Given the description of an element on the screen output the (x, y) to click on. 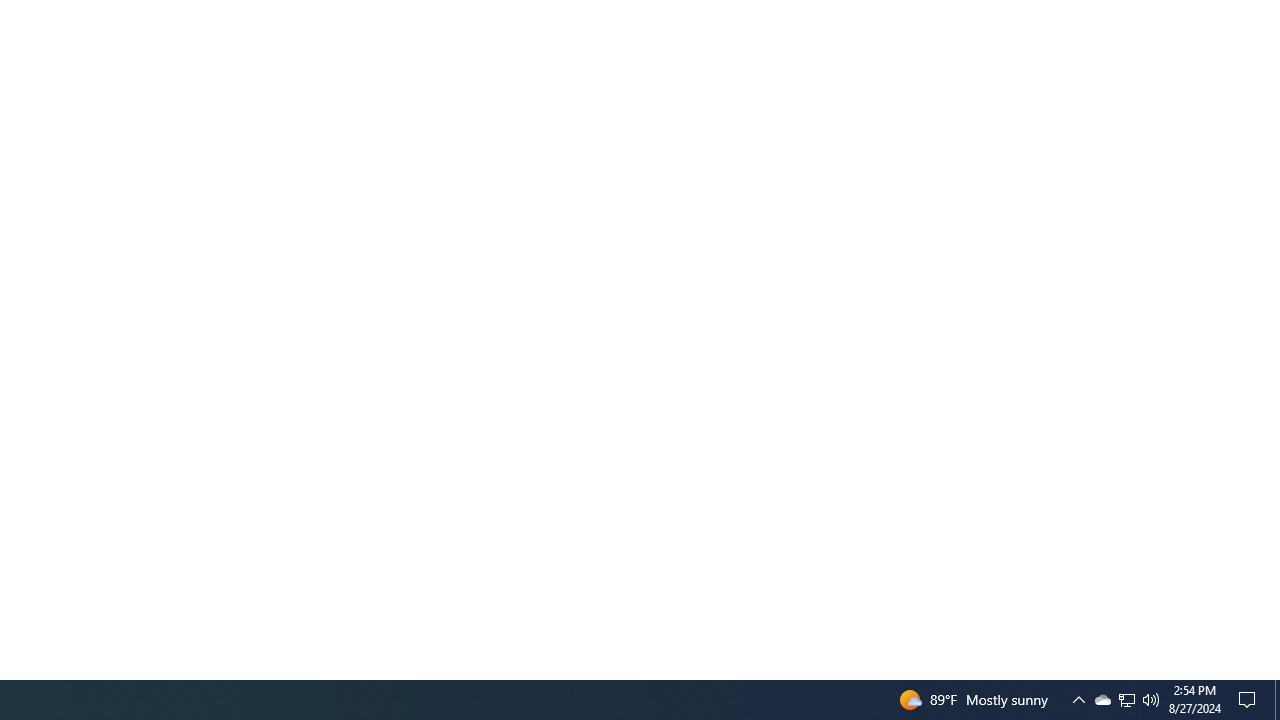
Q2790: 100% (1151, 699)
Notification Chevron (1126, 699)
Show desktop (1078, 699)
User Promoted Notification Area (1277, 699)
Action Center, No new notifications (1126, 699)
